Given the description of an element on the screen output the (x, y) to click on. 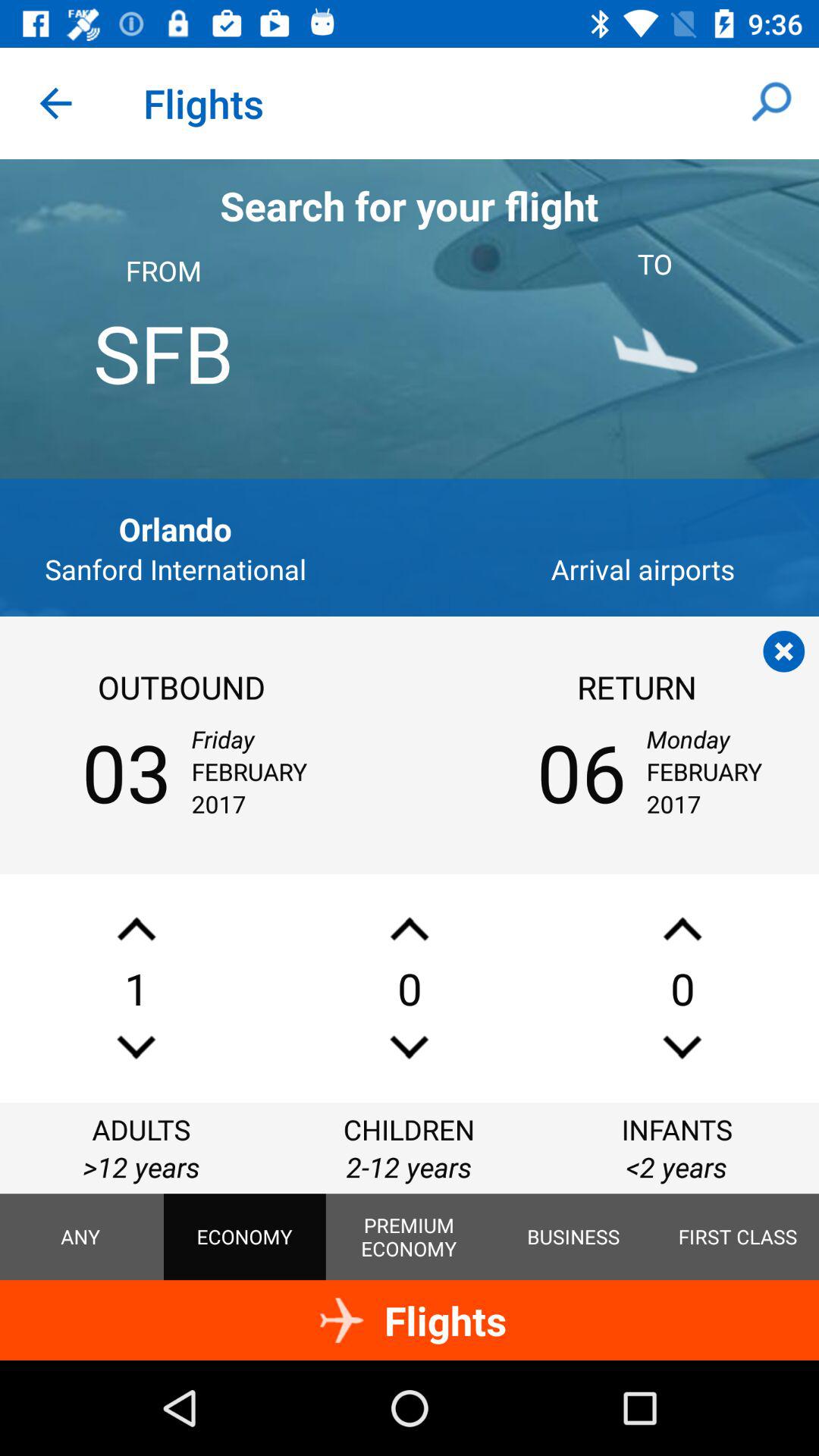
click icon to the left of economy (80, 1236)
